Given the description of an element on the screen output the (x, y) to click on. 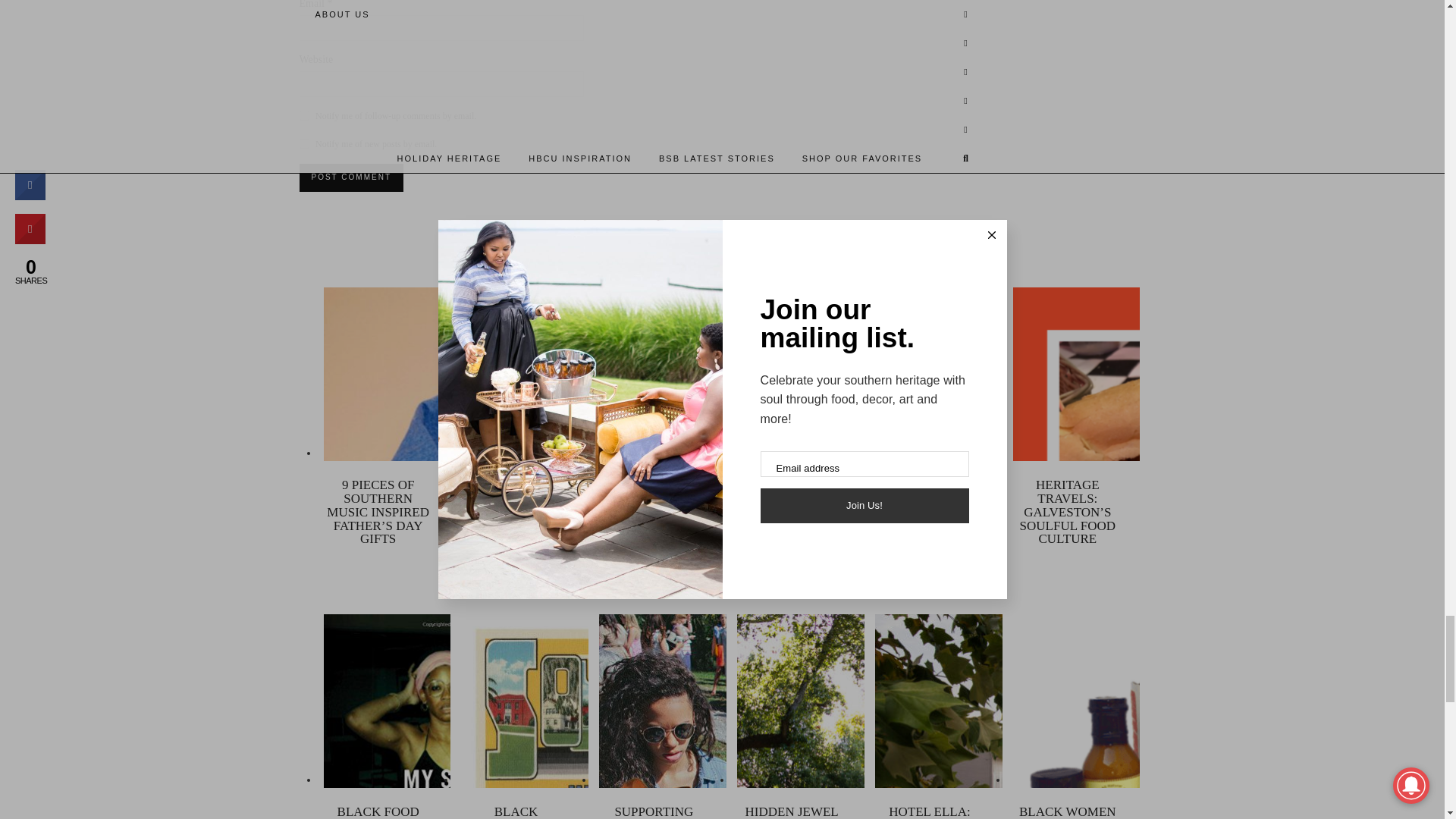
Post Comment (350, 176)
subscribe (303, 115)
subscribe (303, 143)
